Given the description of an element on the screen output the (x, y) to click on. 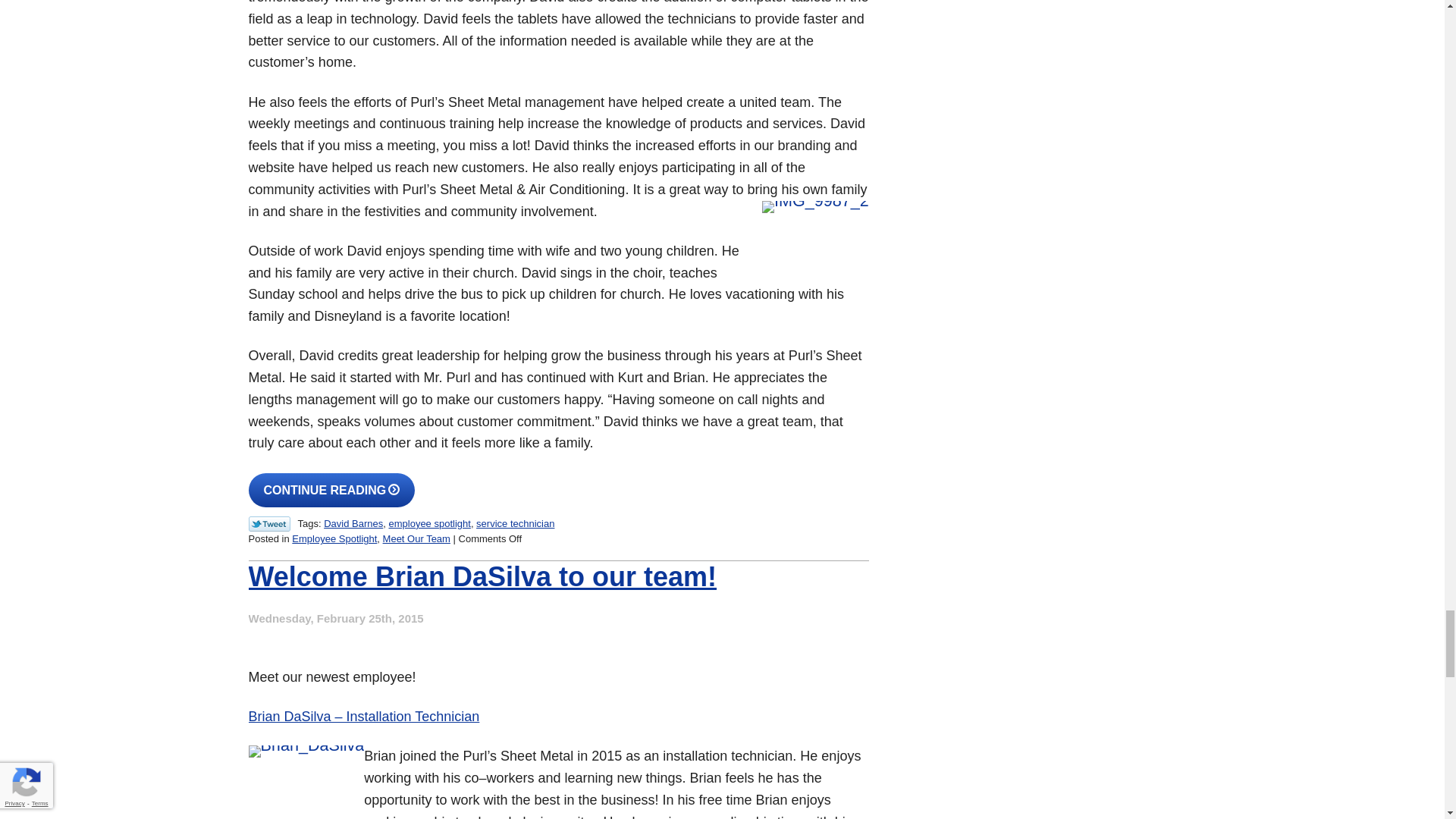
Permanent Link to Employee Spotlight:  David Barnes (331, 489)
